Given the description of an element on the screen output the (x, y) to click on. 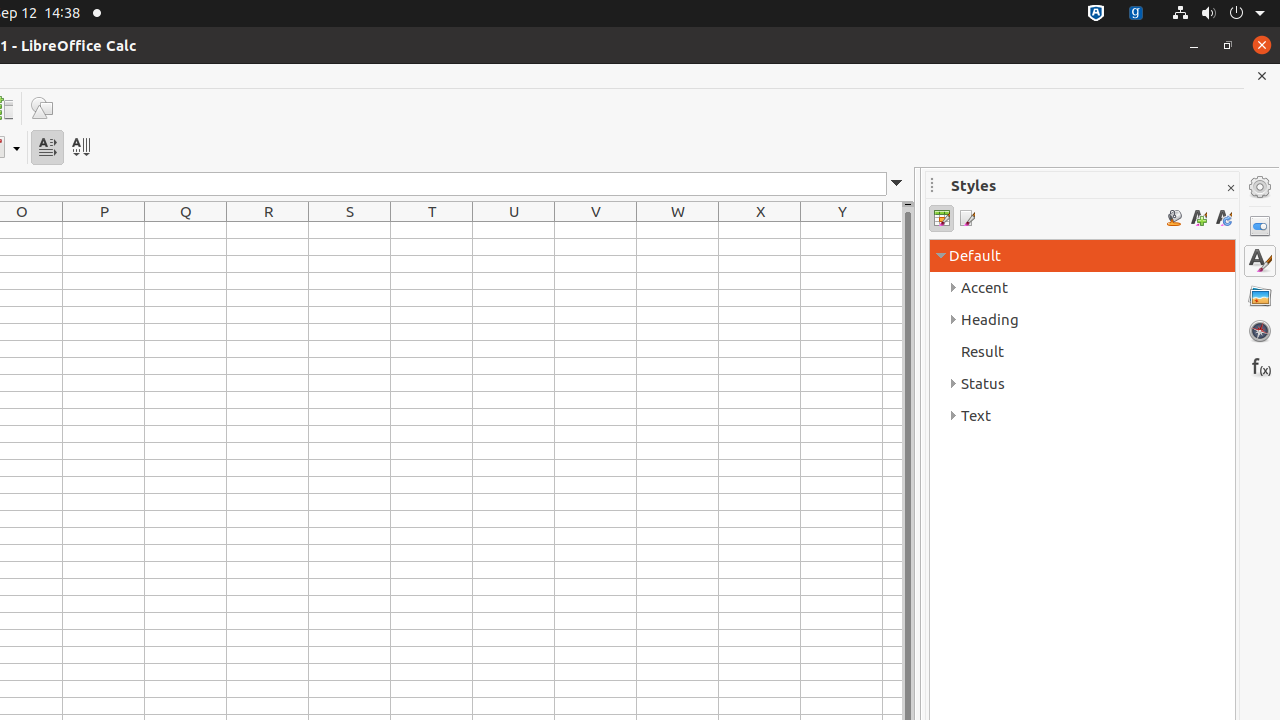
New Style from Selection Element type: push-button (1198, 218)
Functions Element type: radio-button (1260, 366)
Fill Format Mode Element type: push-button (1173, 218)
Gallery Element type: radio-button (1260, 296)
W1 Element type: table-cell (678, 230)
